Given the description of an element on the screen output the (x, y) to click on. 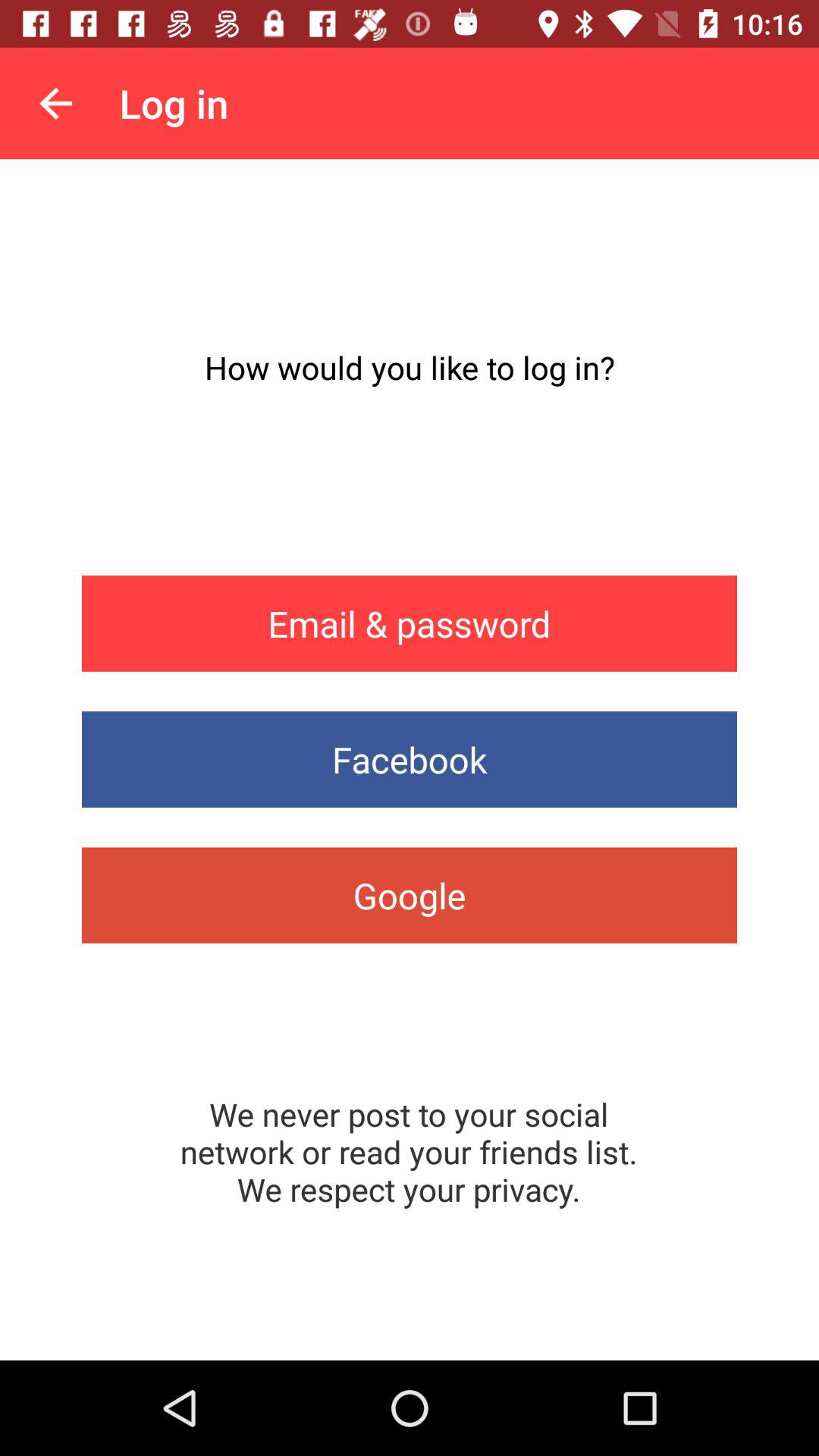
turn off the app above the how would you (55, 103)
